Given the description of an element on the screen output the (x, y) to click on. 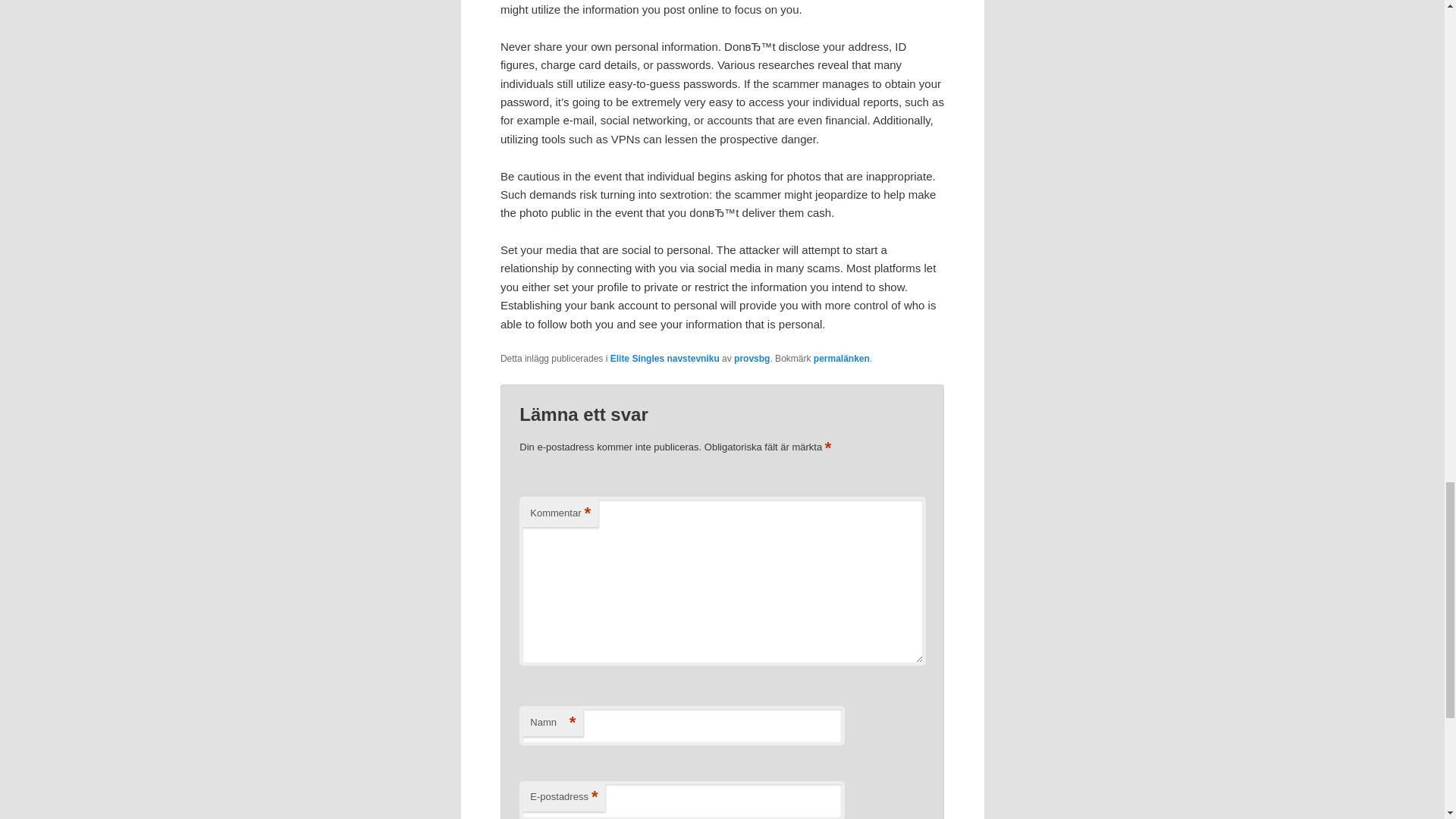
provsbg (751, 357)
Elite Singles navstevniku (664, 357)
